Given the description of an element on the screen output the (x, y) to click on. 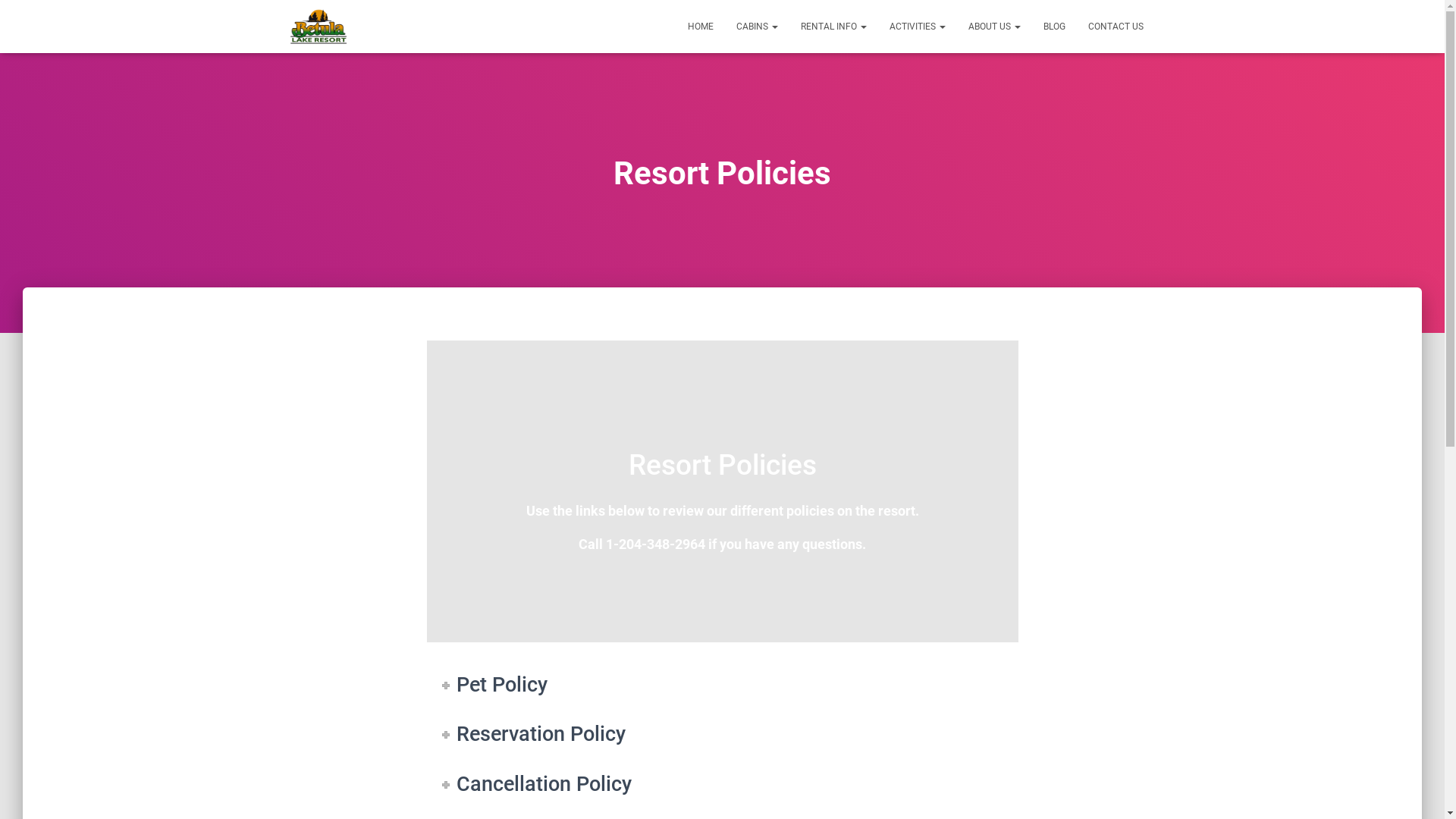
Betula Lake Resort Element type: hover (318, 26)
ABOUT US Element type: text (994, 26)
ACTIVITIES Element type: text (917, 26)
BLOG Element type: text (1053, 26)
CONTACT US Element type: text (1115, 26)
CABINS Element type: text (756, 26)
RENTAL INFO Element type: text (832, 26)
HOME Element type: text (700, 26)
